Given the description of an element on the screen output the (x, y) to click on. 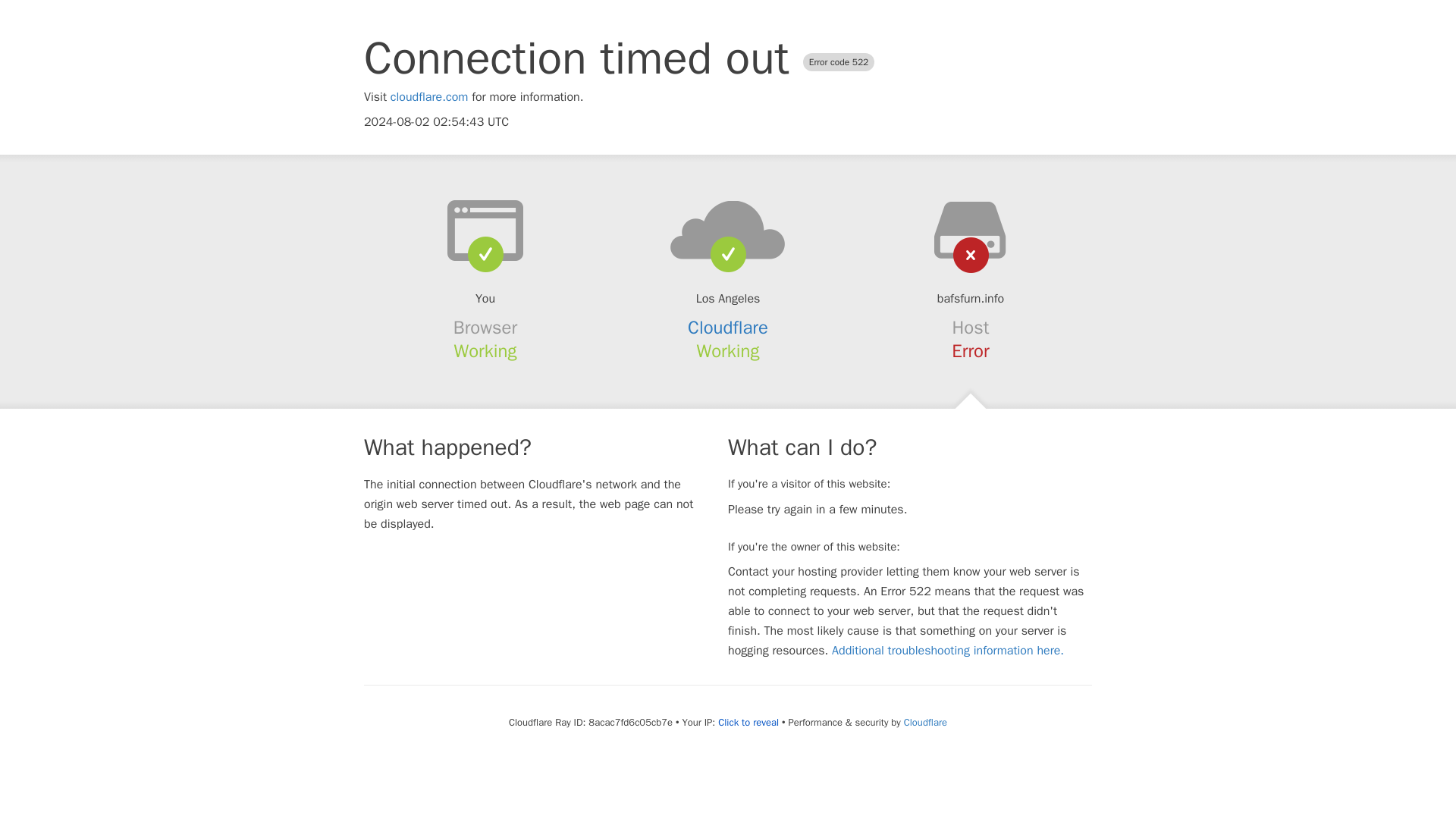
Click to reveal (747, 722)
Cloudflare (925, 721)
Cloudflare (727, 327)
cloudflare.com (429, 96)
Additional troubleshooting information here. (947, 650)
